Given the description of an element on the screen output the (x, y) to click on. 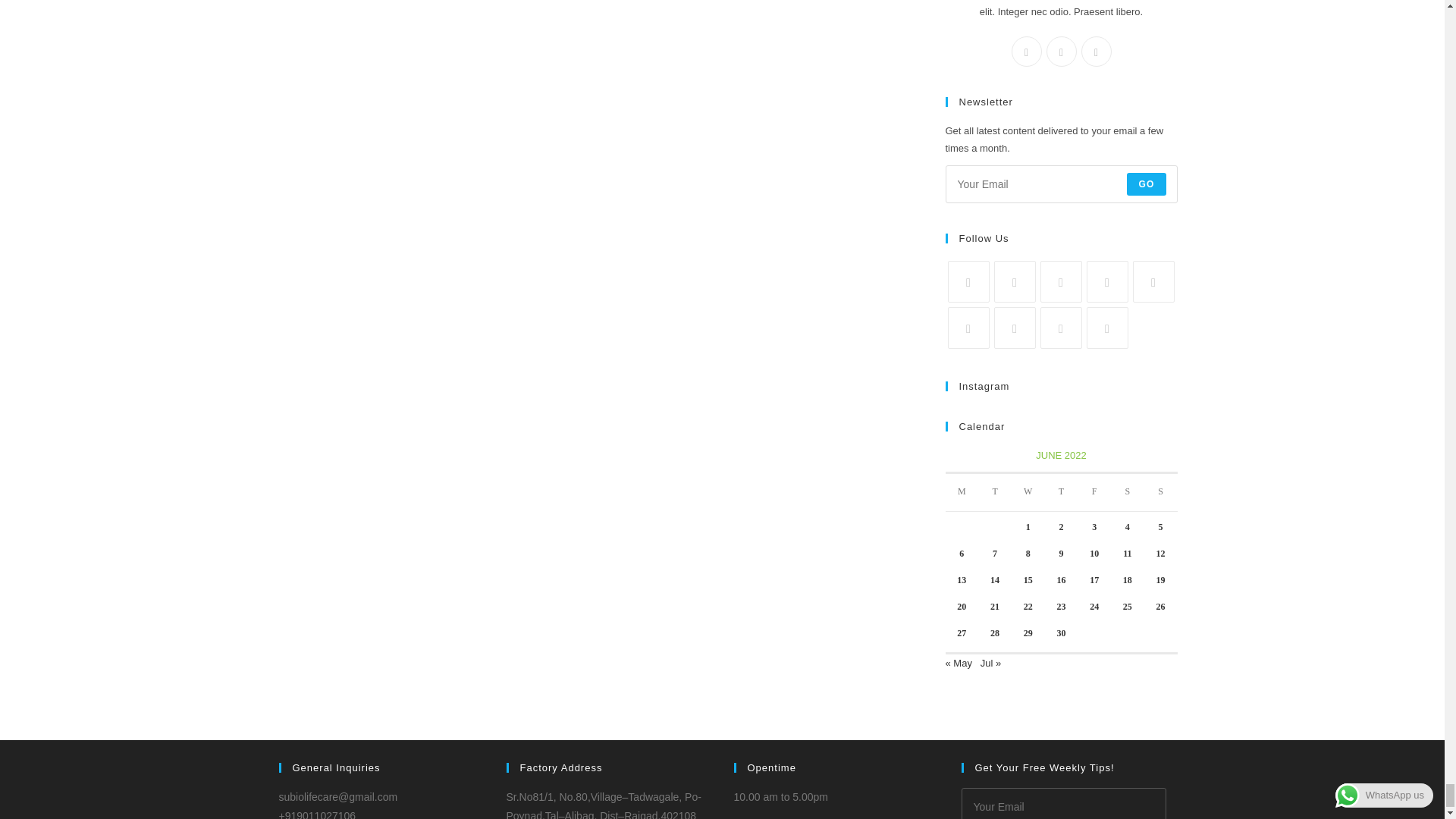
Friday (1093, 492)
Tuesday (994, 492)
Monday (961, 492)
Thursday (1061, 492)
Sunday (1160, 492)
Saturday (1127, 492)
Wednesday (1028, 492)
